Given the description of an element on the screen output the (x, y) to click on. 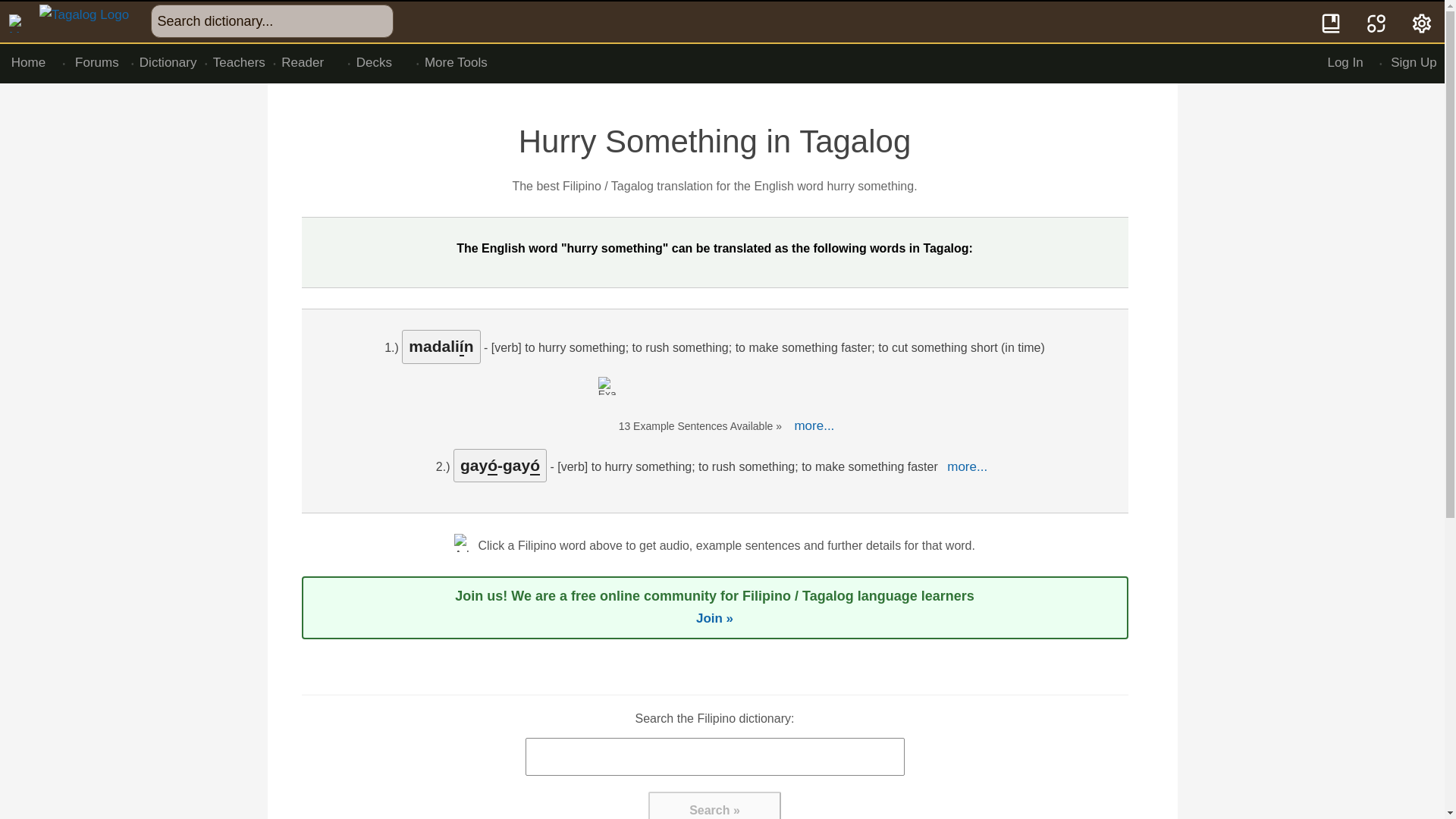
Translate To English (1376, 21)
more... (813, 426)
13 example sentences available (689, 400)
Quick Dictionary Search (1331, 21)
Dictionary (167, 62)
Reader (310, 62)
Forums (96, 62)
My Account (1422, 21)
More Tools (455, 62)
Sign Up (1414, 62)
